Given the description of an element on the screen output the (x, y) to click on. 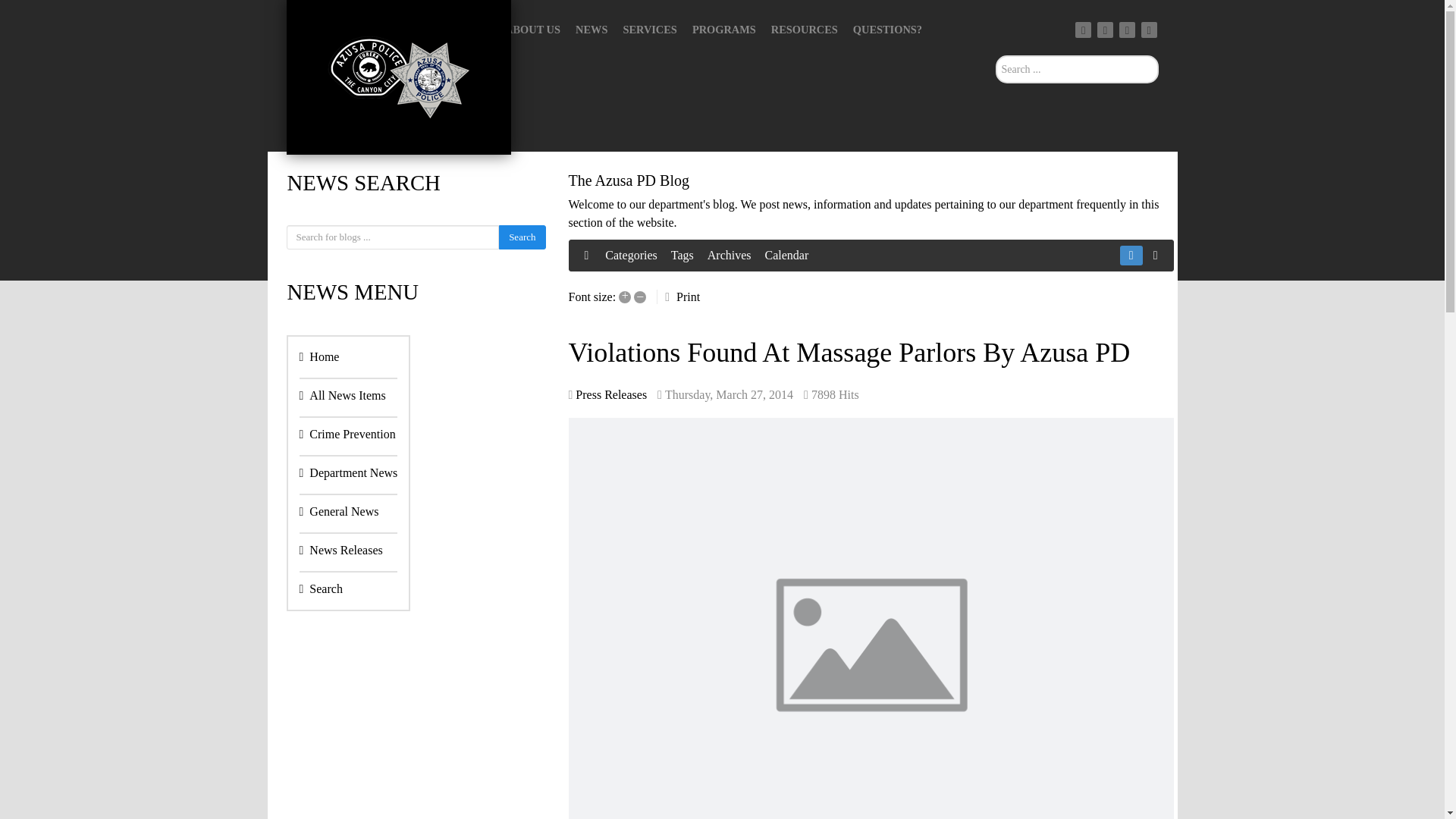
General News (338, 511)
Search (521, 237)
NEWS (591, 29)
ABOUT US (532, 29)
Tags (682, 255)
HOME (471, 29)
Search (320, 588)
Categories (630, 255)
SERVICES (650, 29)
All News Items (341, 395)
